Given the description of an element on the screen output the (x, y) to click on. 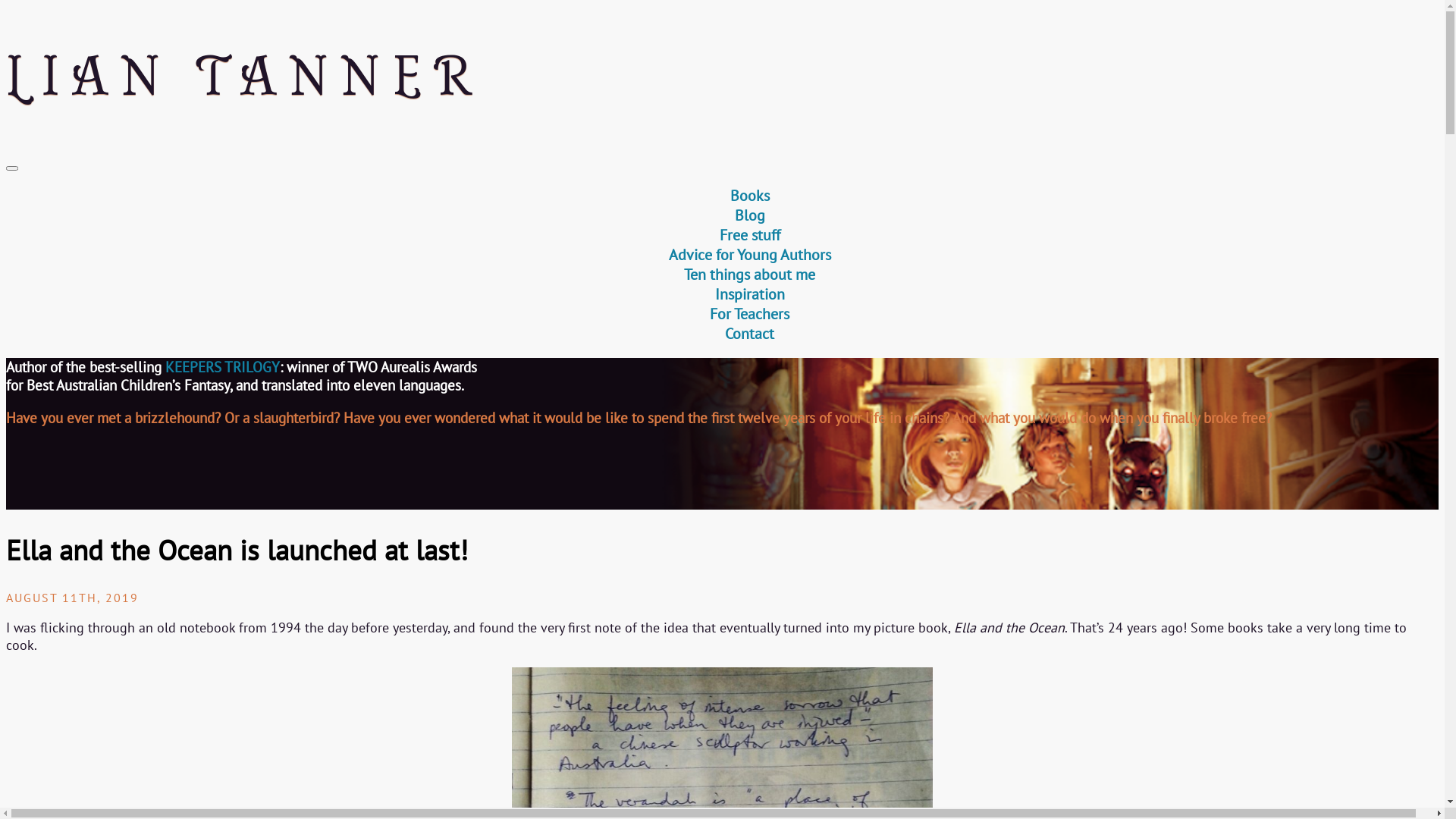
Ten things about me Element type: text (749, 274)
KEEPERS TRILOGY Element type: text (222, 366)
Advice for Young Authors Element type: text (749, 254)
Contact Element type: text (749, 333)
Free stuff Element type: text (748, 234)
Blog Element type: text (749, 215)
For Teachers Element type: text (749, 313)
LIAN TANNER Element type: text (722, 76)
Books Element type: text (748, 195)
Inspiration Element type: text (749, 294)
